Given the description of an element on the screen output the (x, y) to click on. 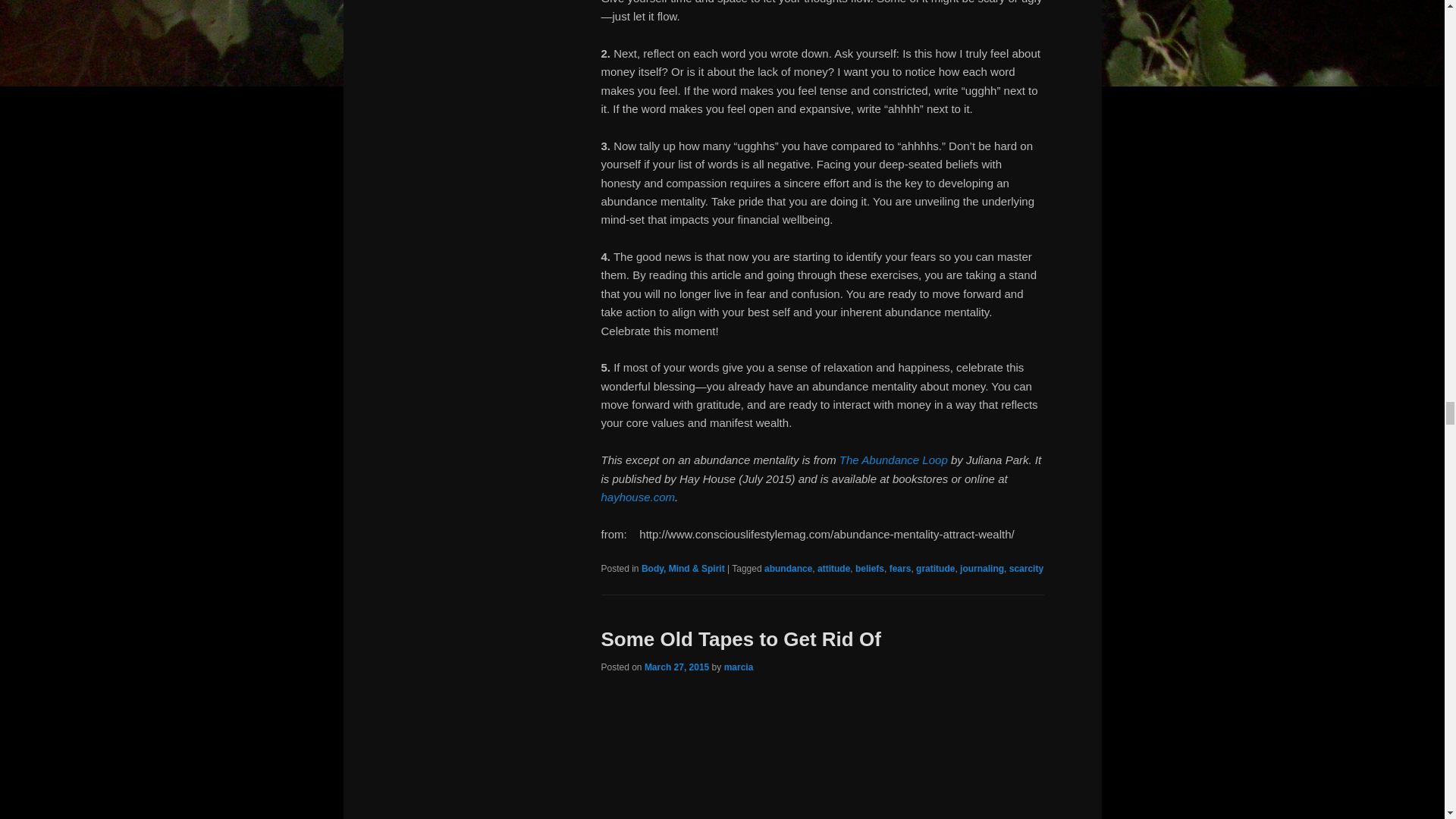
The Abundance Loop (893, 459)
View all posts by marcia (738, 666)
10:28 am (677, 666)
